Given the description of an element on the screen output the (x, y) to click on. 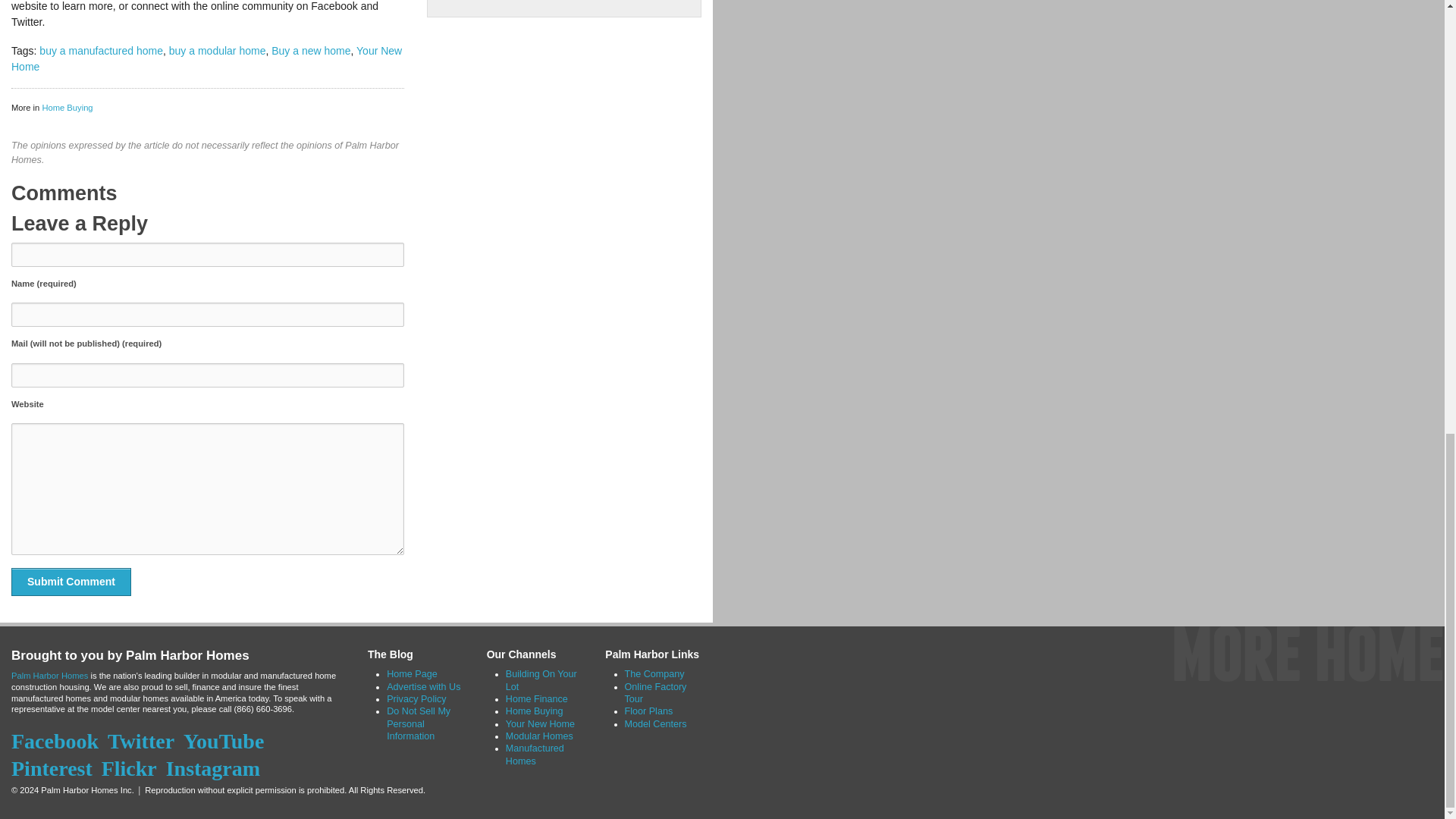
Submit Comment (71, 582)
Your New Home (206, 58)
Home Buying (67, 107)
Twitter (143, 740)
Submit Comment (71, 582)
Flickr (132, 768)
Buy a new home (310, 50)
YouTube (226, 740)
buy a manufactured home (101, 50)
Facebook (57, 740)
